Given the description of an element on the screen output the (x, y) to click on. 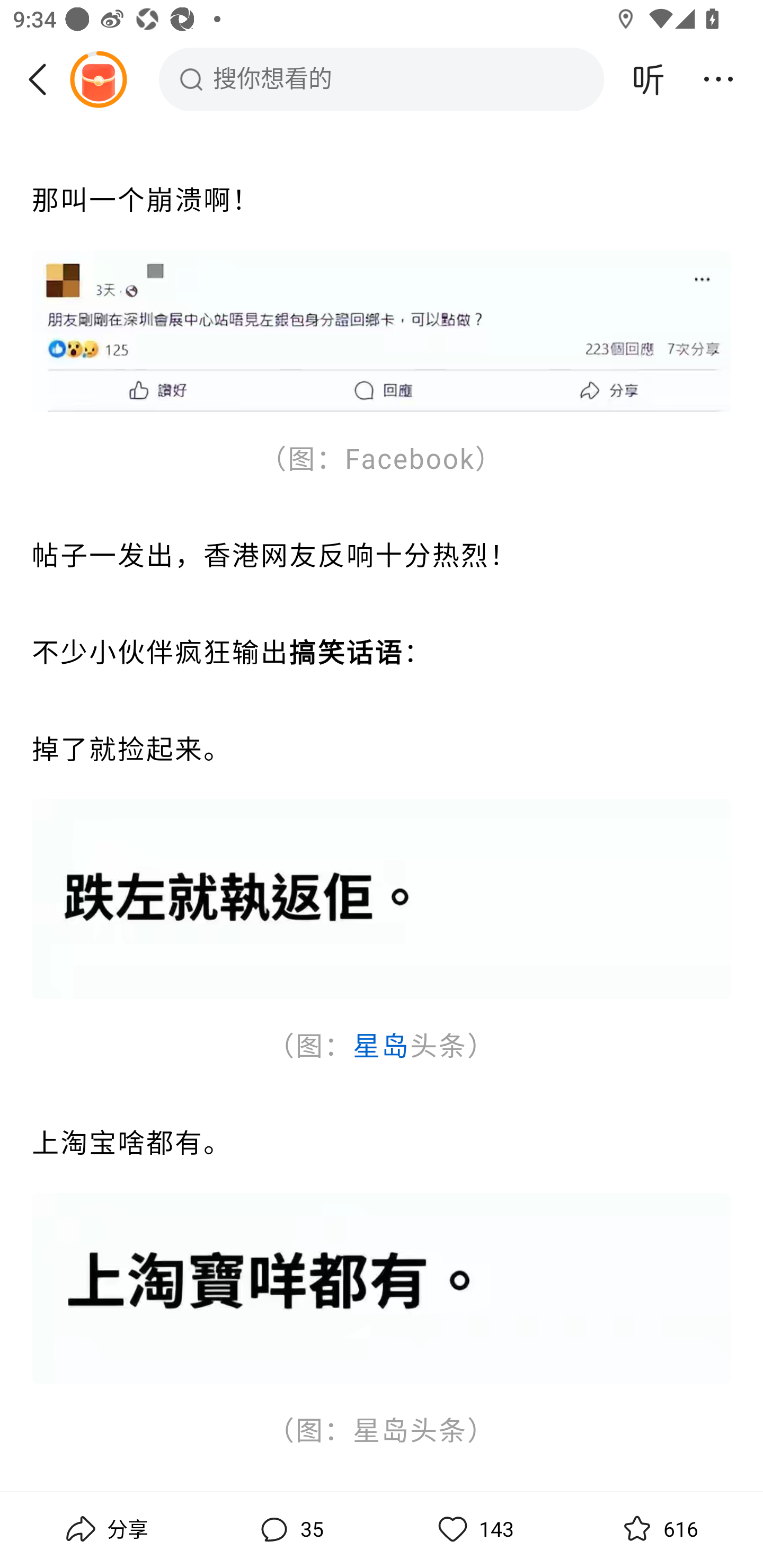
返回 (44, 78)
听头条 (648, 78)
更多操作 (718, 78)
搜你想看的 搜索框，搜你想看的 (381, 79)
阅读赚金币 (98, 79)
图片，点击识别内容 (381, 331)
图片，点击识别内容 (381, 900)
星岛 (380, 1047)
图片，点击识别内容 (381, 1287)
分享 (104, 1529)
评论,35 35 (288, 1529)
收藏,616 616 (658, 1529)
